Given the description of an element on the screen output the (x, y) to click on. 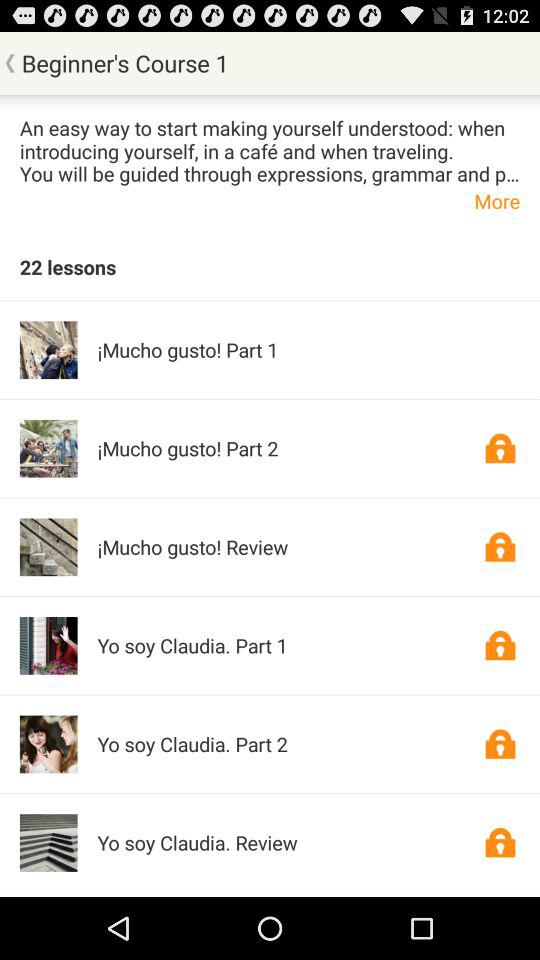
to select lesson (500, 645)
